Given the description of an element on the screen output the (x, y) to click on. 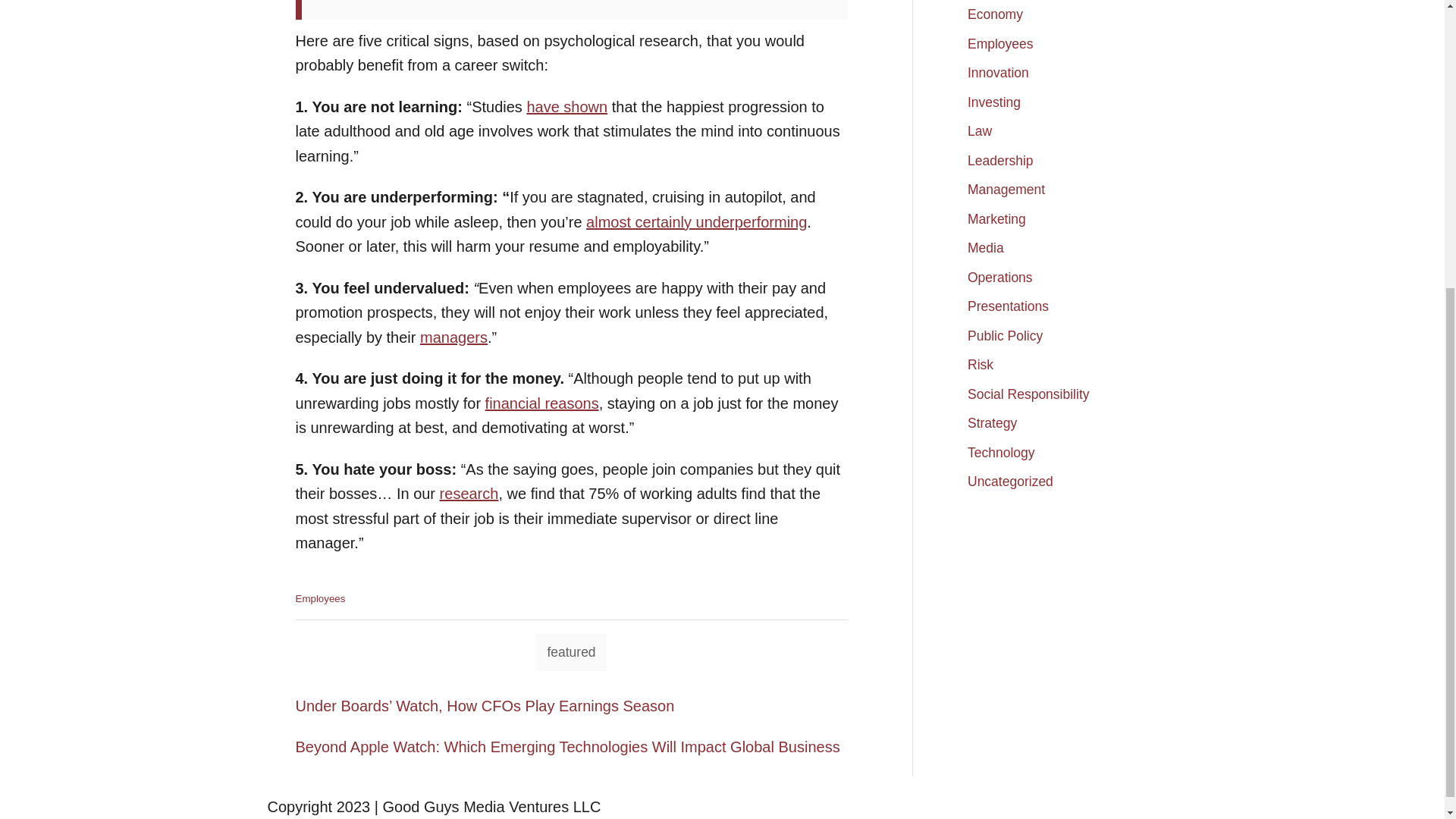
Economy (995, 15)
Social Responsibility (1028, 393)
have shown (566, 105)
Management (1005, 189)
Public Policy (1005, 335)
Risk (980, 364)
Leadership (1000, 159)
Innovation (997, 72)
almost certainly underperforming (696, 221)
Presentations (1008, 305)
managers (453, 336)
Conversations (1009, 1)
Media (985, 247)
Law (979, 131)
Investing (994, 101)
